Given the description of an element on the screen output the (x, y) to click on. 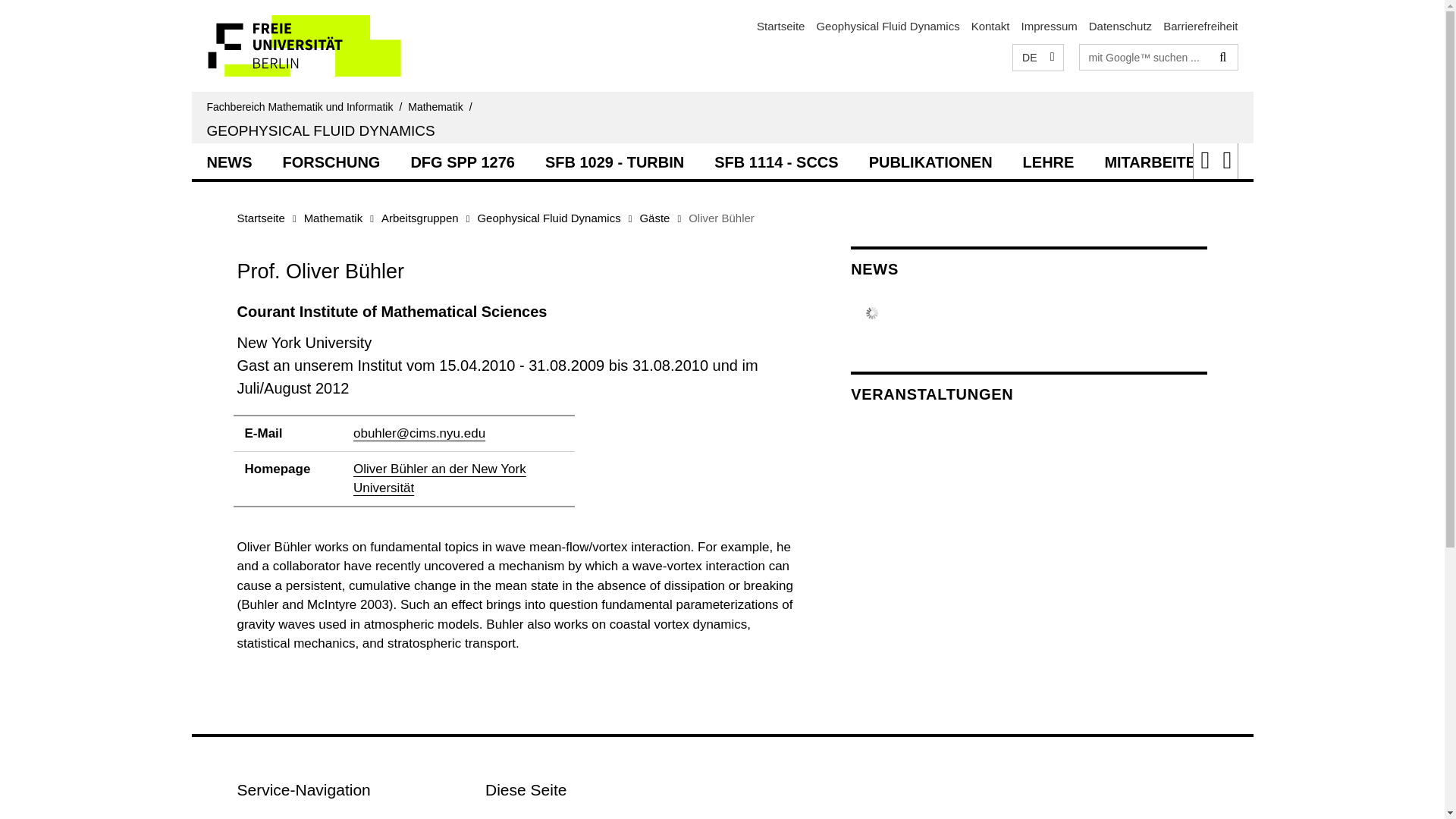
Zur Startseite von:  (442, 106)
DFG SPP 1276 (461, 160)
FORSCHUNG (330, 160)
NEWS (228, 160)
Impressum (1049, 25)
LEHRE (1048, 160)
Barrierefreiheit (1200, 25)
loading... (228, 160)
SFB 1029 - TURBIN (613, 160)
Geophysical Fluid Dynamics (887, 25)
Zur Startseite von: Fachbereich Mathematik und Informatik (781, 25)
loading... (330, 160)
Suchbegriff bitte hier eingeben (1144, 56)
Zur Startseite von:  Geophysical Fluid Dynamics (319, 130)
loading... (461, 160)
